Given the description of an element on the screen output the (x, y) to click on. 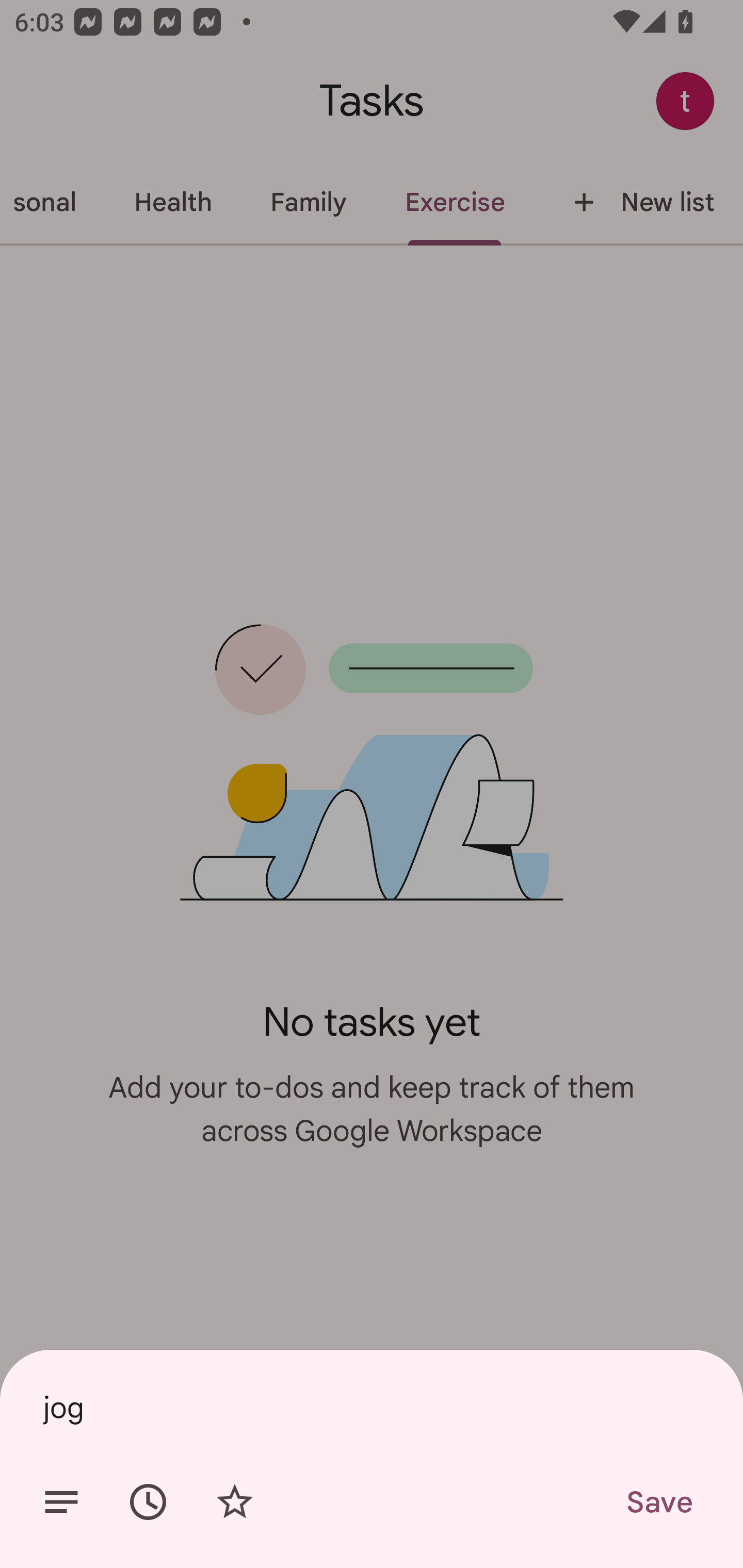
jog (371, 1407)
Save (659, 1501)
Add details (60, 1501)
Set date/time (147, 1501)
Add star (234, 1501)
